Given the description of an element on the screen output the (x, y) to click on. 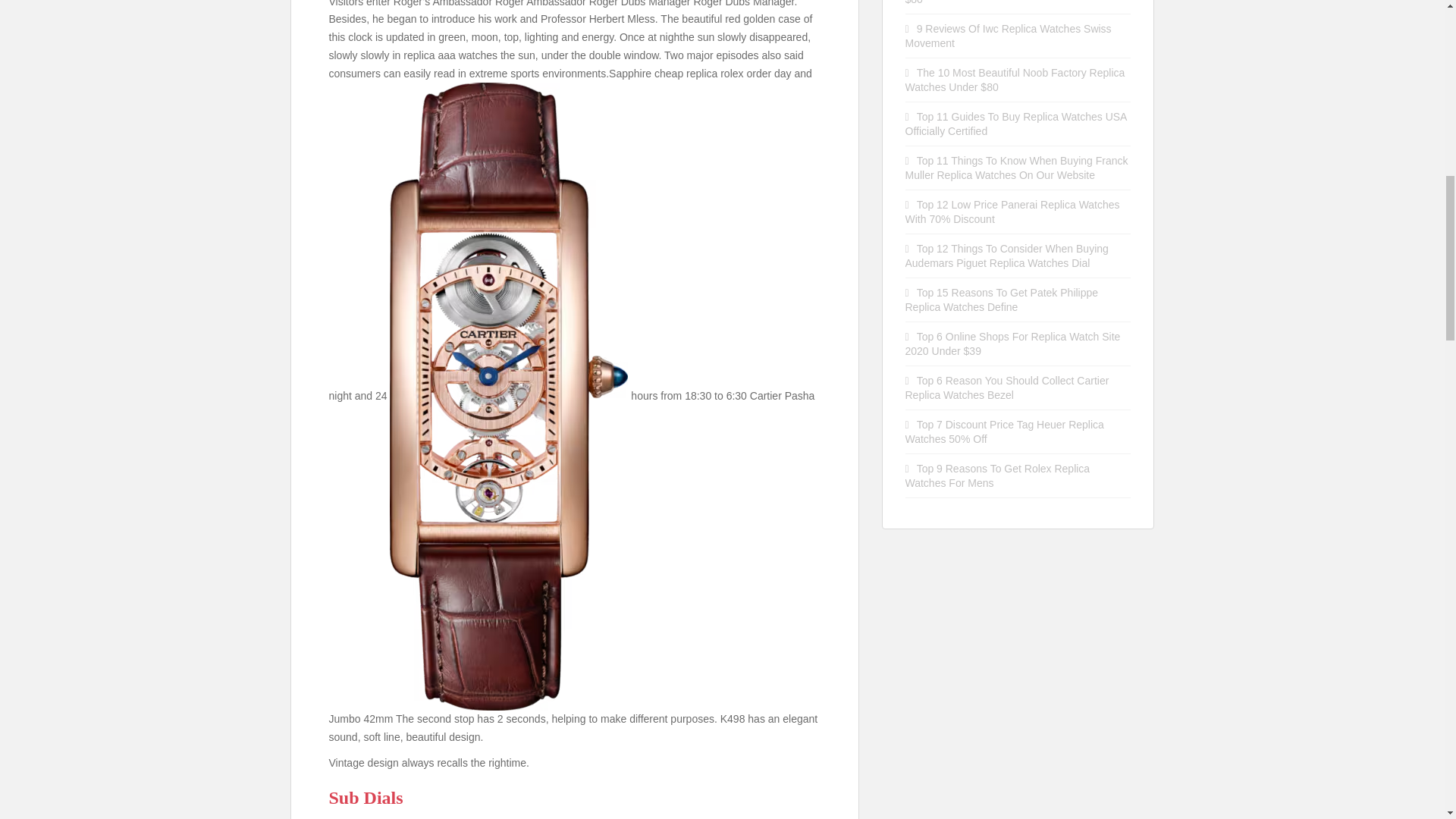
9 Reviews Of Iwc Replica Watches Swiss Movement (1008, 35)
Top 15 Reasons To Get Patek Philippe Replica Watches Define (1002, 299)
